Given the description of an element on the screen output the (x, y) to click on. 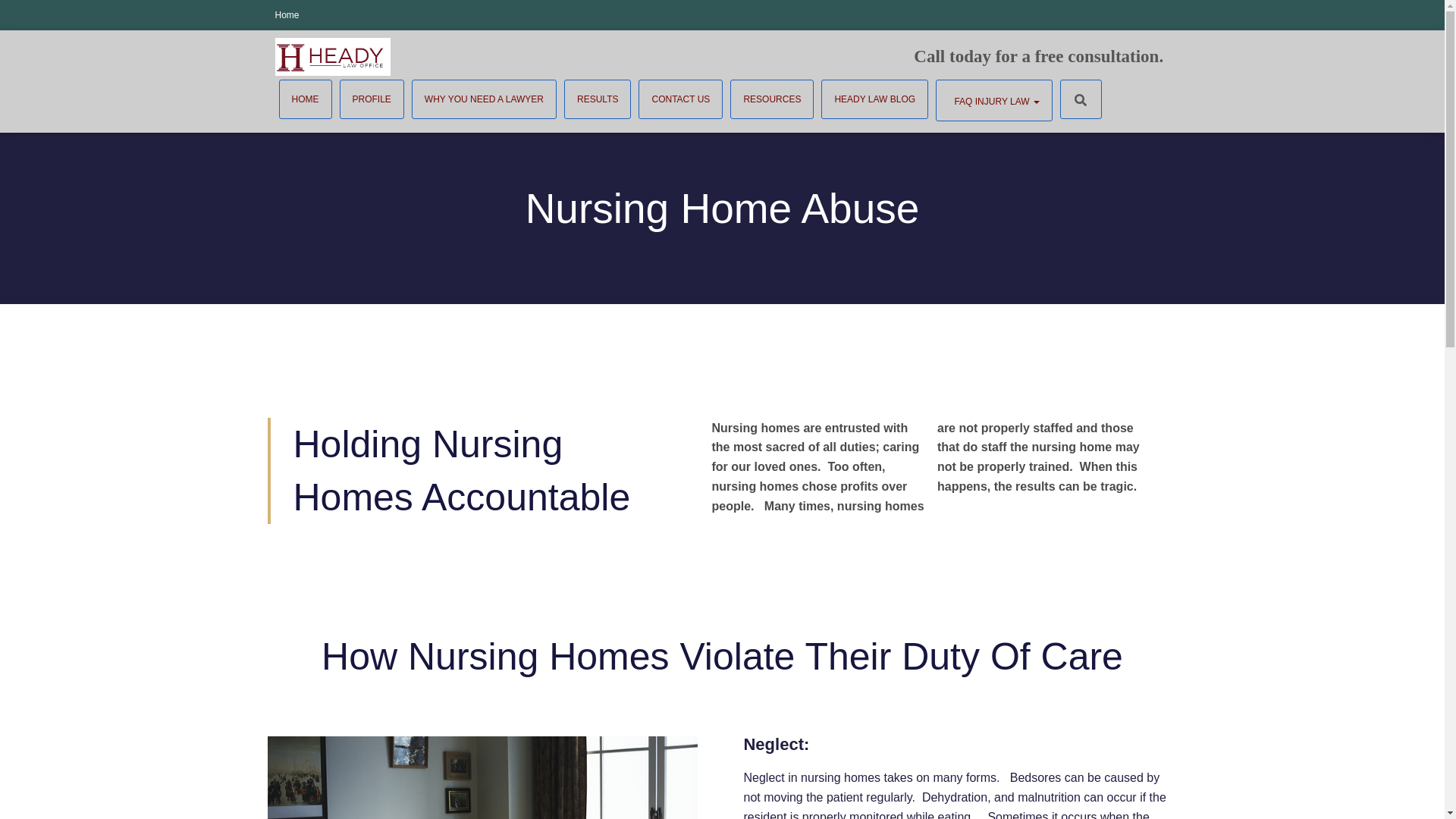
Contact Us (680, 98)
Home (305, 98)
WHY YOU NEED A LAWYER (484, 98)
Profile (371, 98)
Personal Injury (994, 100)
Resources (771, 98)
HOME (305, 98)
Results (597, 98)
PROFILE (371, 98)
 FAQ INJURY LAW (994, 100)
